Given the description of an element on the screen output the (x, y) to click on. 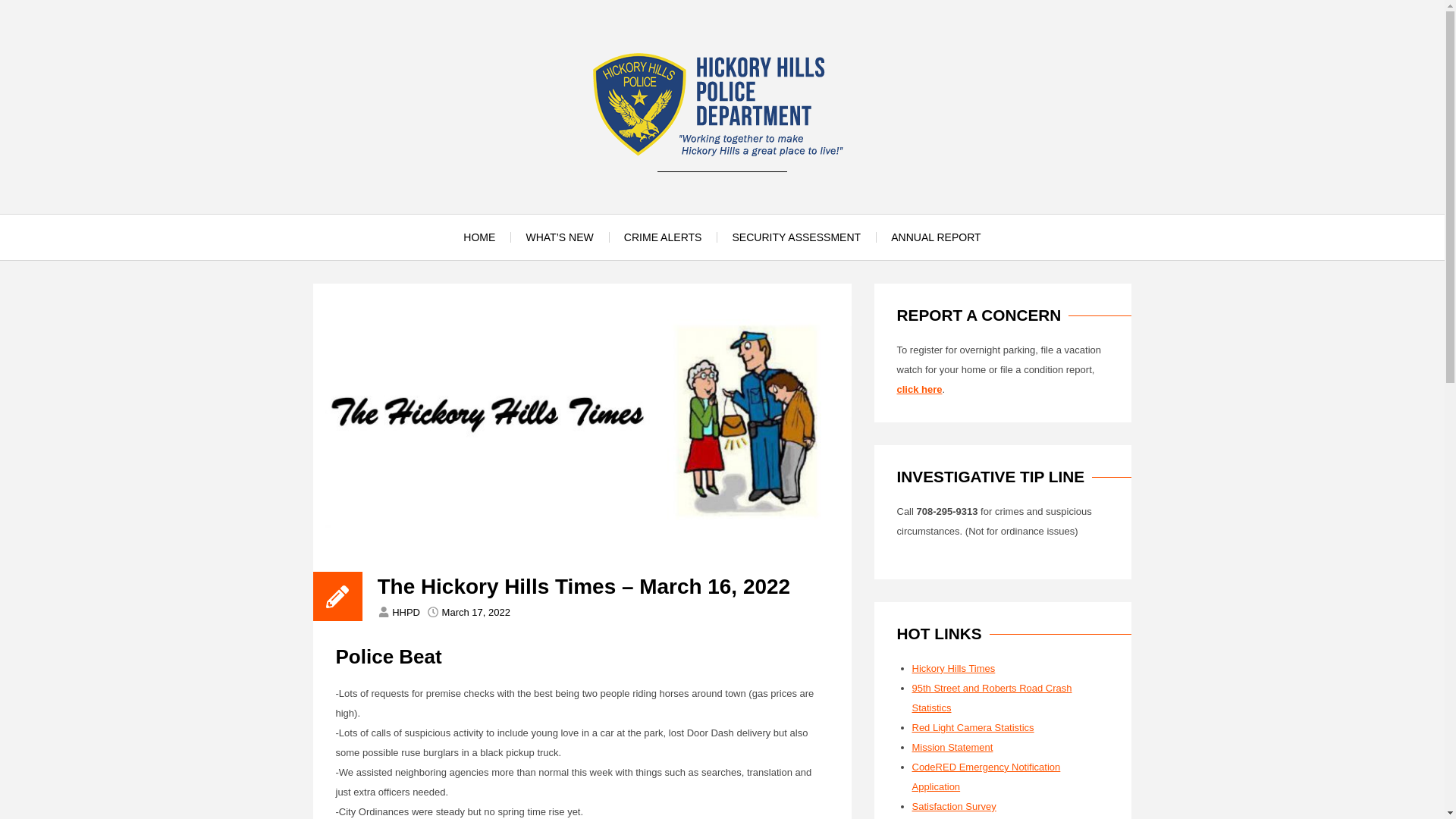
SECURITY ASSESSMENT (796, 237)
March 17, 2022 (476, 612)
Mission Statement (951, 747)
CodeRED Emergency Notification Application (985, 776)
95th Street and Roberts Road Crash Statistics (991, 697)
CRIME ALERTS (662, 237)
ANNUAL REPORT (935, 237)
Hickory Hills Times (952, 668)
click here (919, 389)
HHPD (405, 612)
HOME (479, 237)
Satisfaction Survey (953, 806)
Red Light Camera Statistics (972, 727)
